Given the description of an element on the screen output the (x, y) to click on. 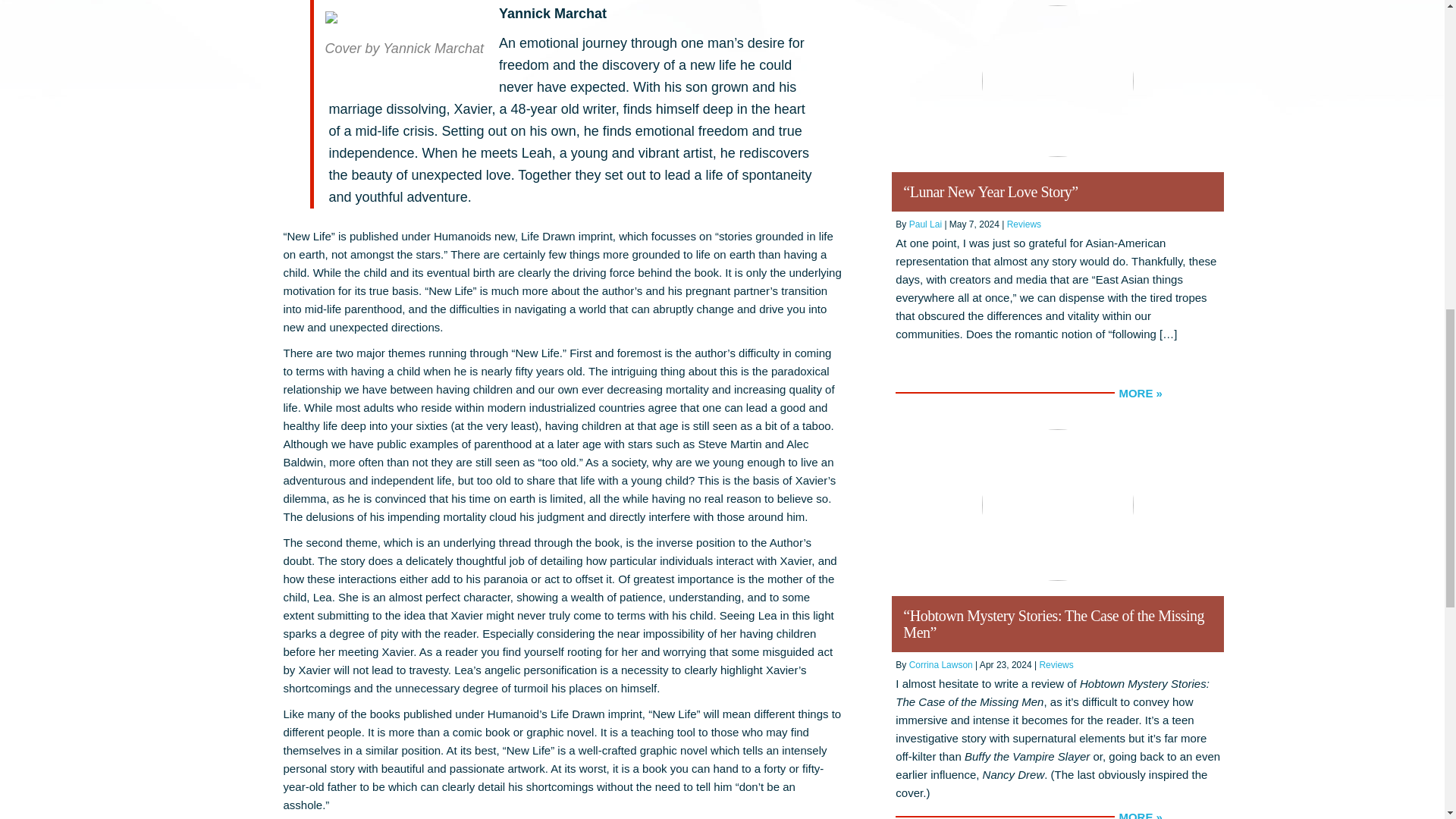
Cover by Yannick Marchat (403, 37)
Corrina Lawson (940, 665)
Posts by Paul Lai (925, 224)
Reviews (1056, 665)
Reviews (1024, 224)
Paul Lai (925, 224)
Posts by Corrina Lawson (940, 665)
